Given the description of an element on the screen output the (x, y) to click on. 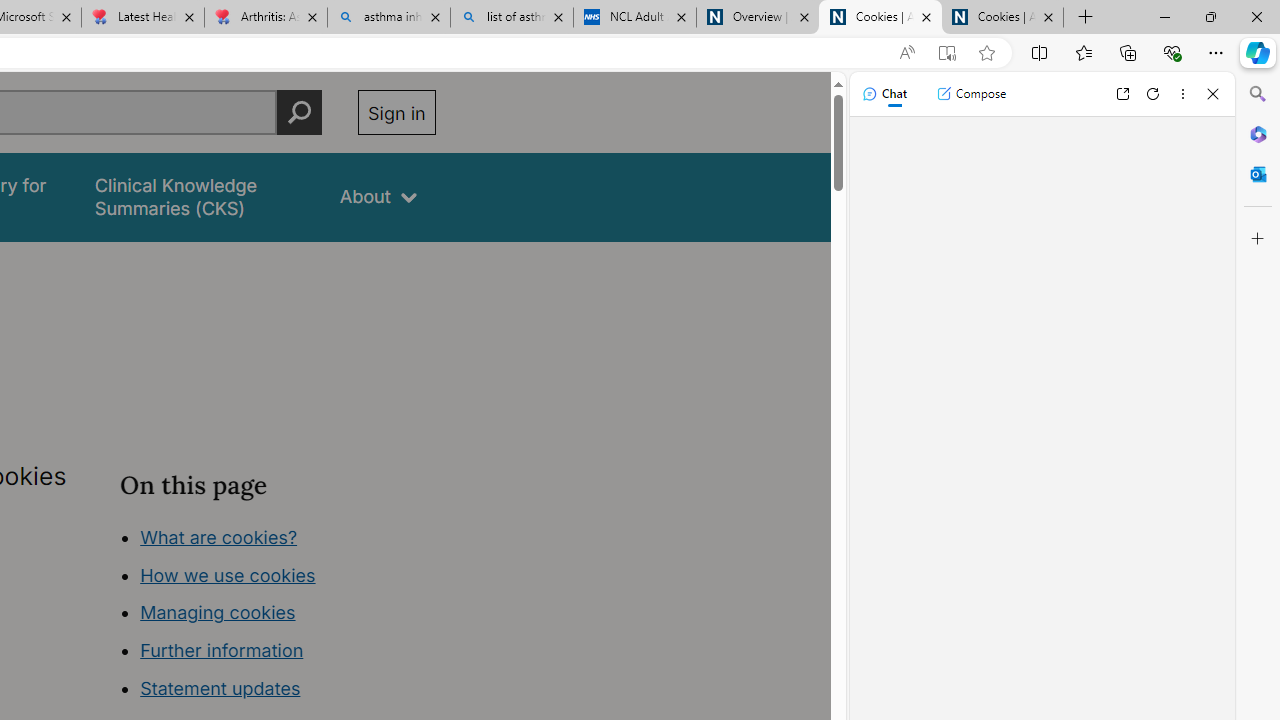
asthma inhaler - Search (388, 17)
Statement updates (219, 688)
What are cookies? (218, 536)
Class: in-page-nav__list (277, 615)
Perform search (299, 112)
